Given the description of an element on the screen output the (x, y) to click on. 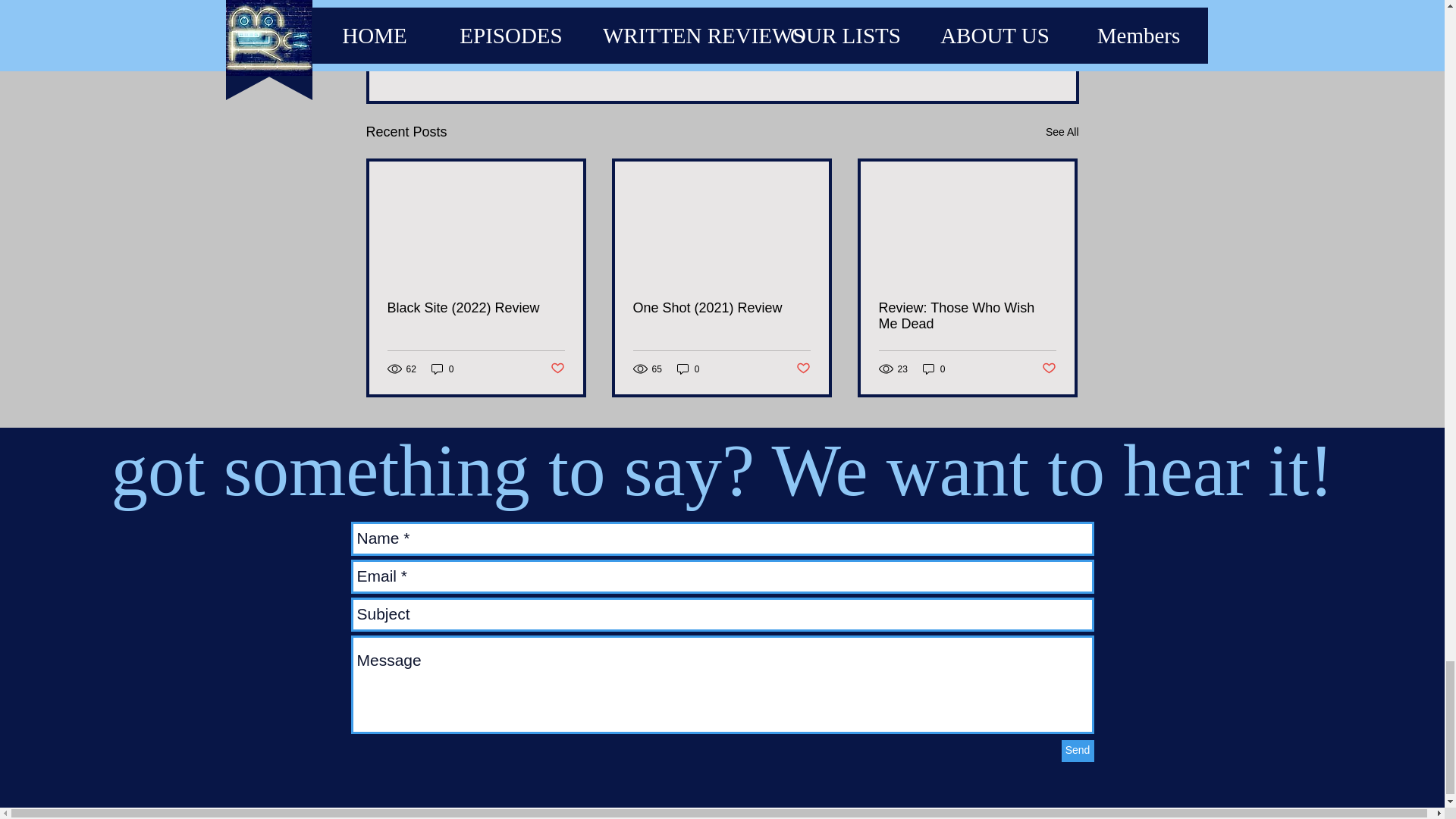
0 (934, 368)
Post not marked as liked (557, 368)
Send (1077, 751)
Post not marked as liked (1049, 368)
Review: Those Who Wish Me Dead (966, 316)
See All (1061, 132)
0 (442, 368)
Post not marked as liked (803, 368)
0 (688, 368)
Post not marked as liked (995, 47)
